Given the description of an element on the screen output the (x, y) to click on. 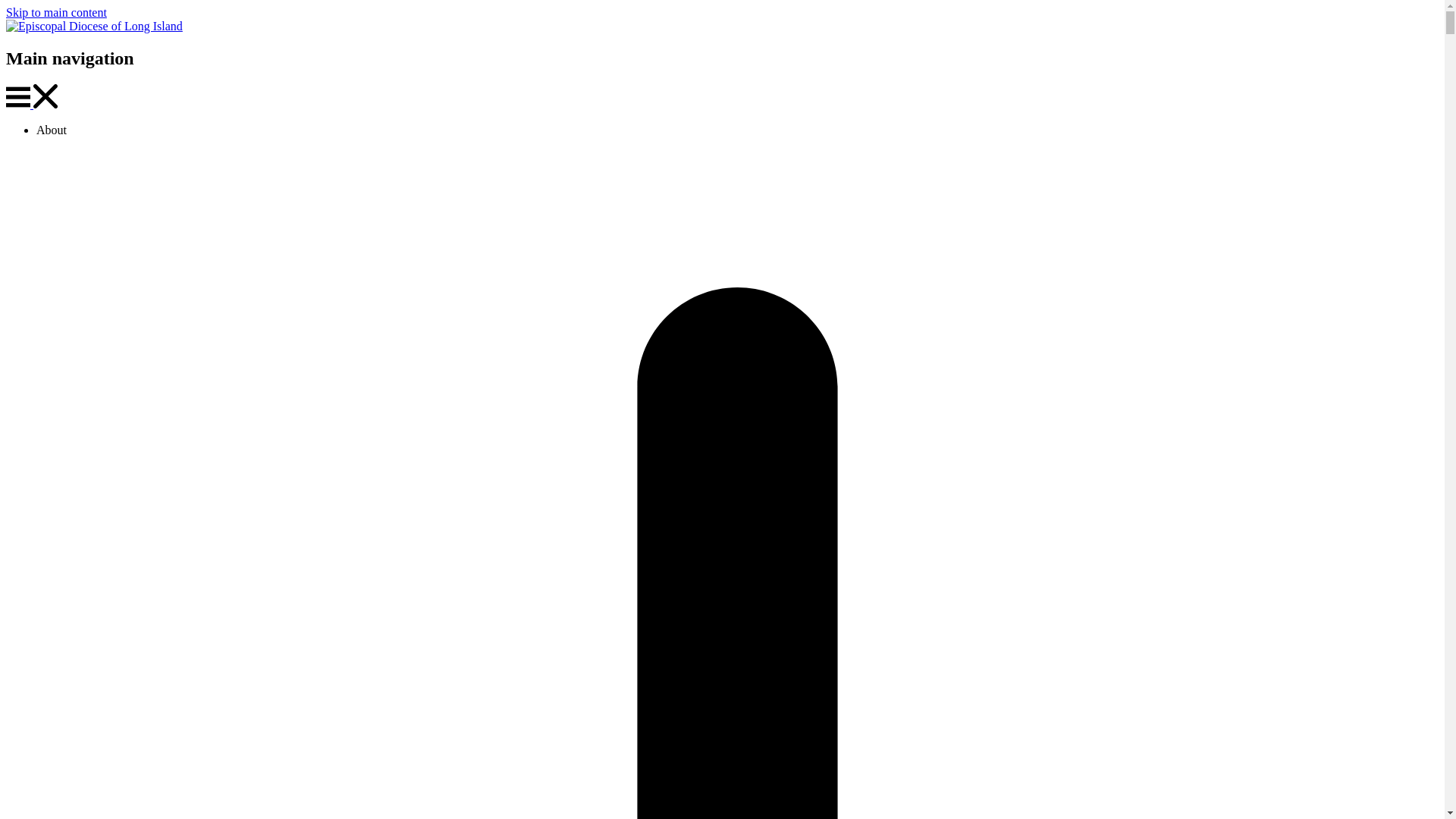
Home (94, 25)
Close (45, 103)
Skip to main content (55, 11)
Menu (19, 103)
Menu (17, 96)
Close (45, 96)
